Given the description of an element on the screen output the (x, y) to click on. 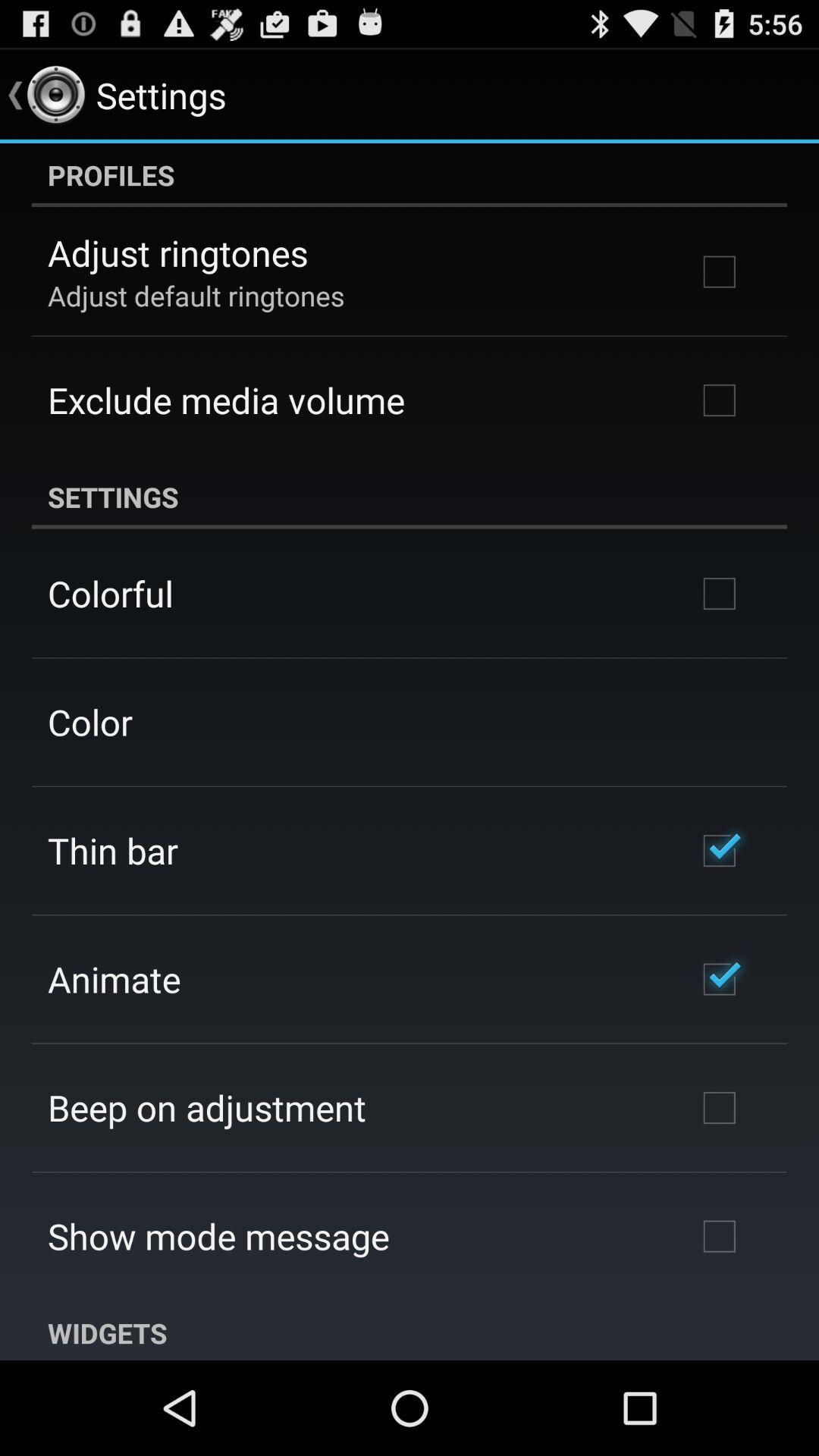
flip to the widgets (409, 1330)
